Given the description of an element on the screen output the (x, y) to click on. 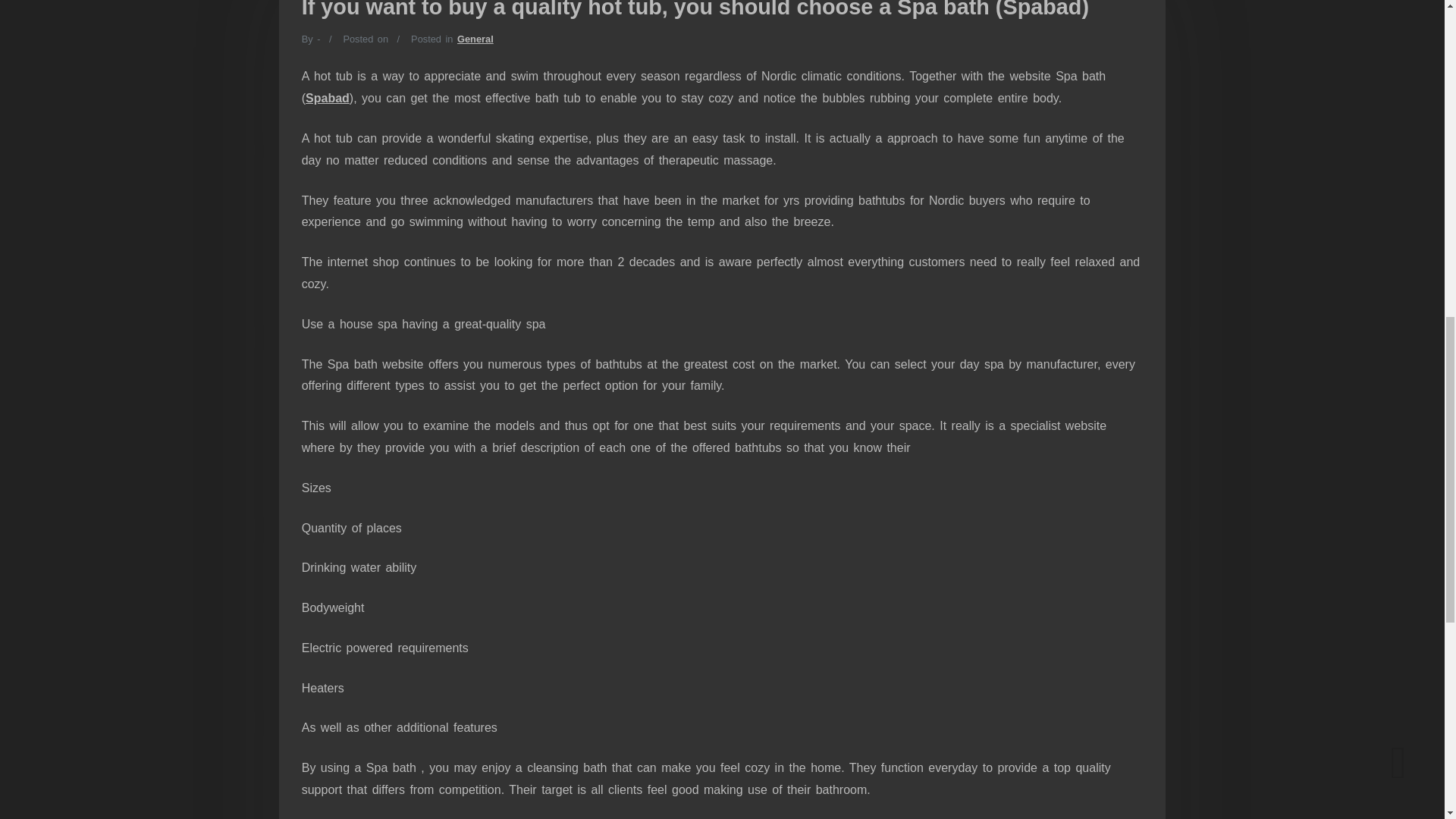
Spabad (327, 97)
General (475, 39)
